Given the description of an element on the screen output the (x, y) to click on. 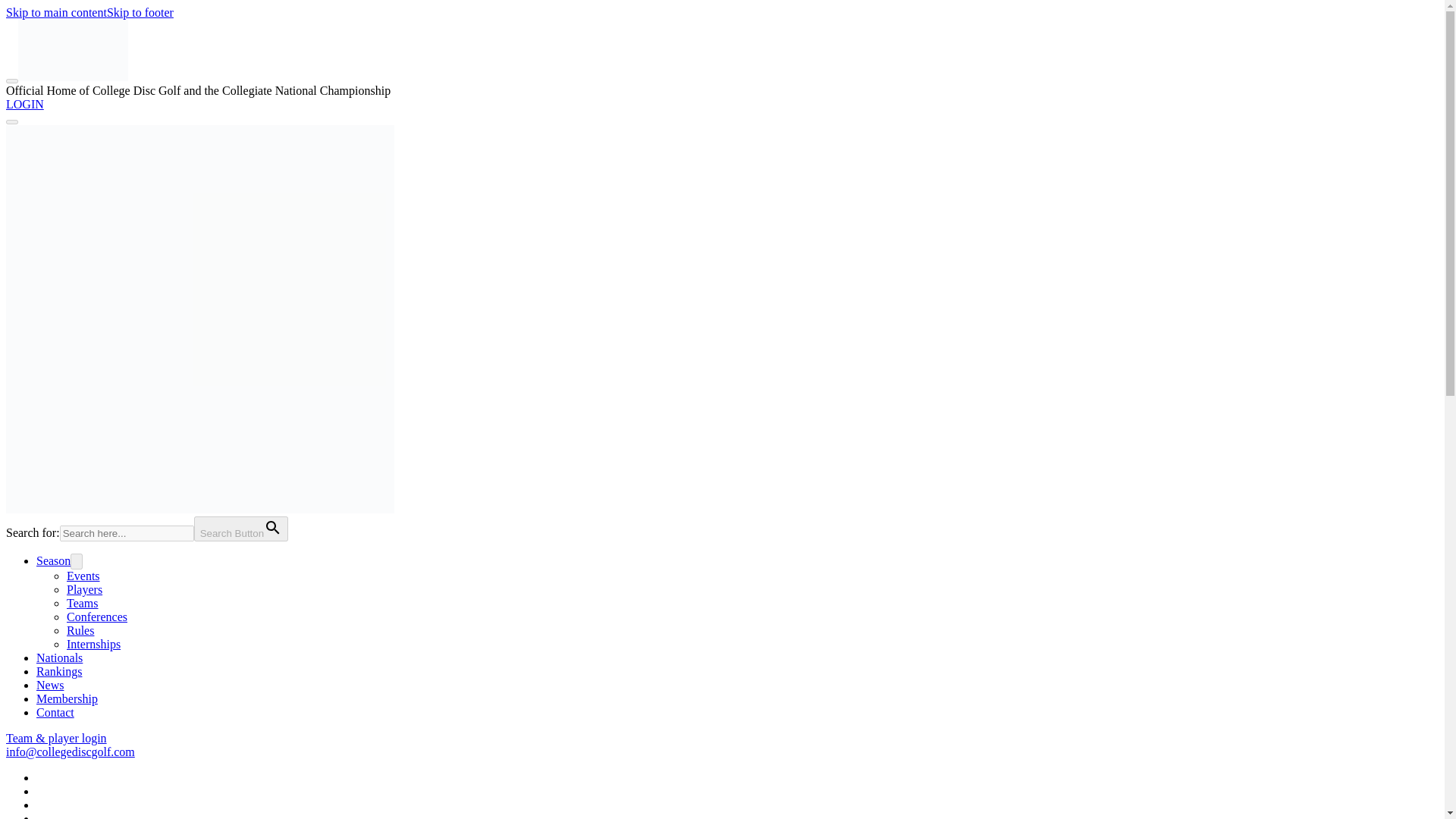
Rankings (58, 671)
Events (83, 575)
Contact (55, 712)
Players (83, 589)
Teams (82, 603)
Rules (80, 630)
Internships (93, 644)
LOGIN (24, 103)
News (50, 684)
Skip to footer (139, 11)
Conferences (97, 616)
Nationals (59, 657)
Search Button (240, 528)
Membership (66, 698)
Skip to main content (55, 11)
